Given the description of an element on the screen output the (x, y) to click on. 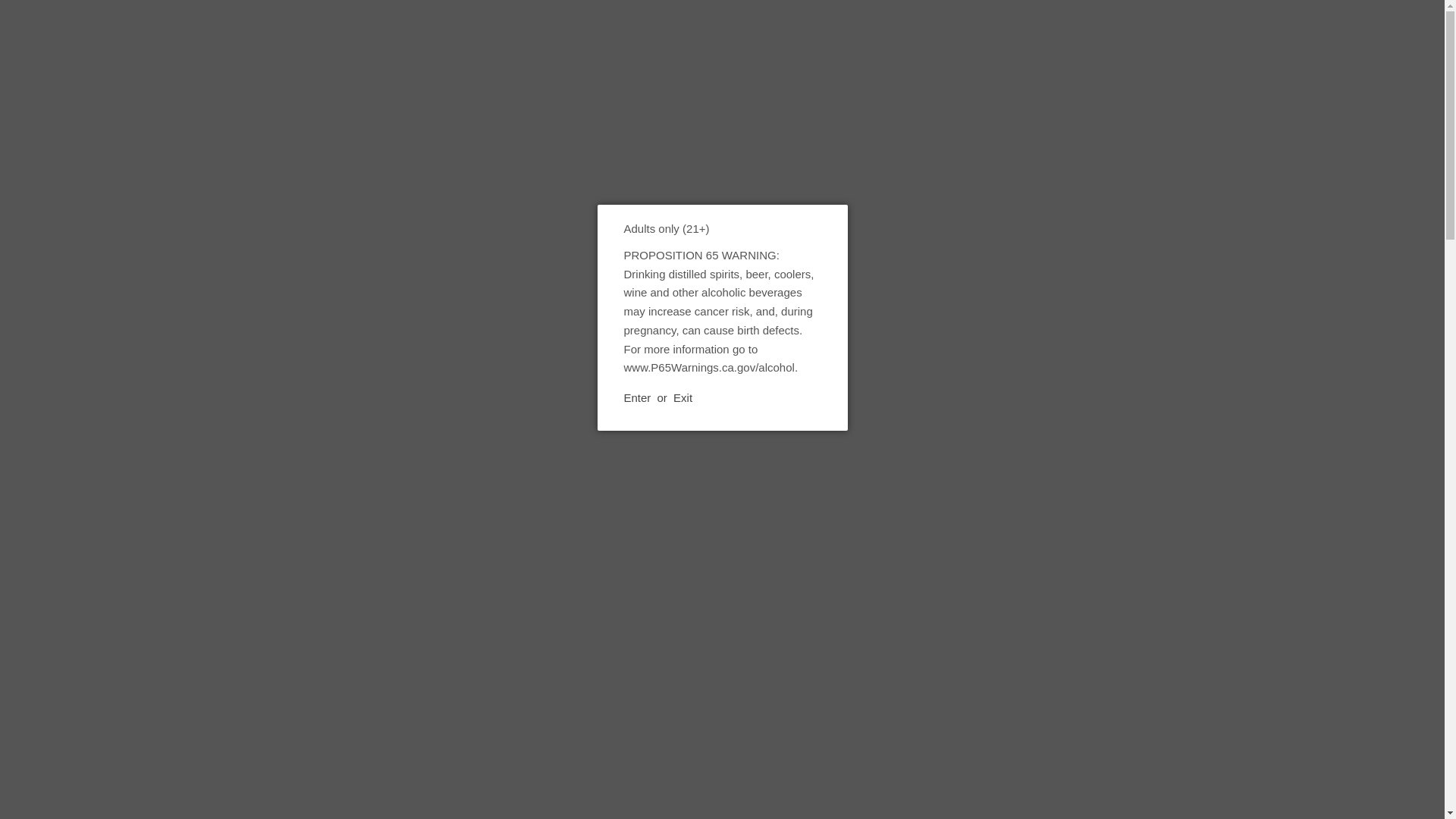
1 (938, 481)
Shopify online store chat (60, 781)
Exit (682, 397)
Enter (636, 398)
